Given the description of an element on the screen output the (x, y) to click on. 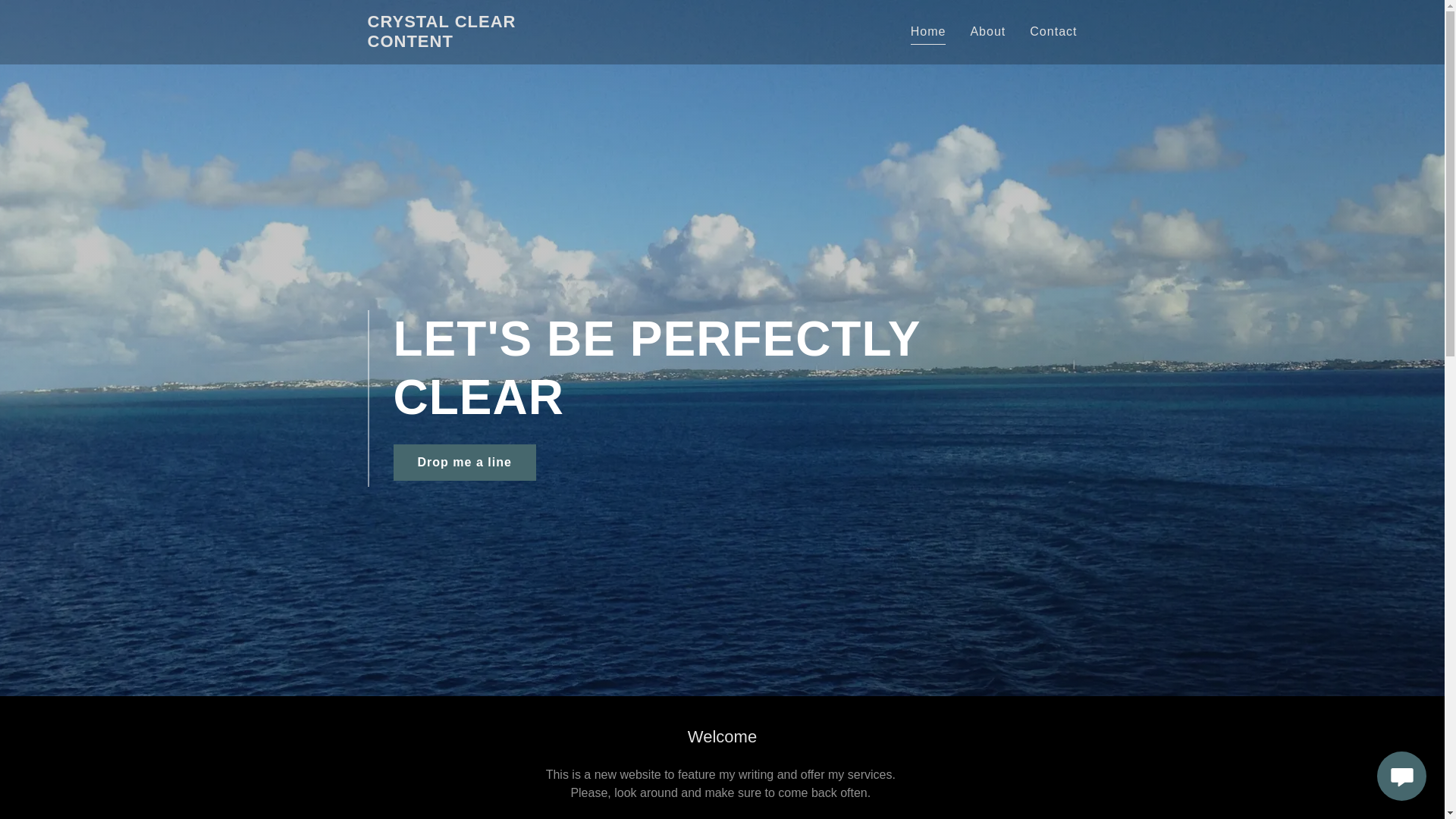
Crystal Clear Content (471, 42)
Home (928, 33)
About (987, 31)
Contact (1053, 31)
Drop me a line (464, 462)
CRYSTAL CLEAR CONTENT (471, 42)
